Given the description of an element on the screen output the (x, y) to click on. 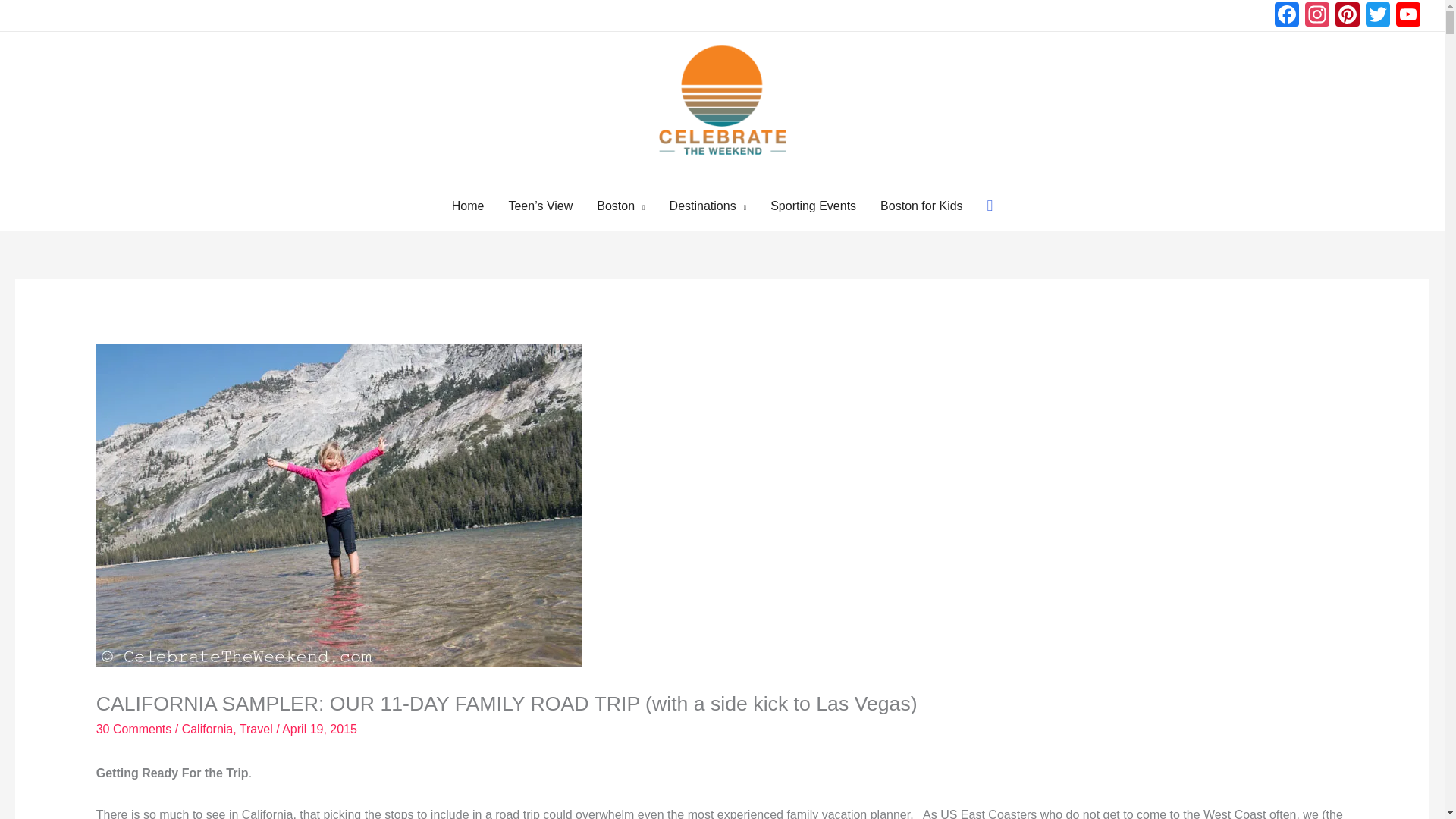
Instagram (1316, 16)
Instagram (1316, 16)
Twitter (1377, 16)
Destinations (708, 205)
Home (467, 205)
Pinterest (1347, 16)
Facebook (1286, 16)
Home (467, 205)
YouTube Channel (1408, 16)
Twitter (1377, 16)
